Given the description of an element on the screen output the (x, y) to click on. 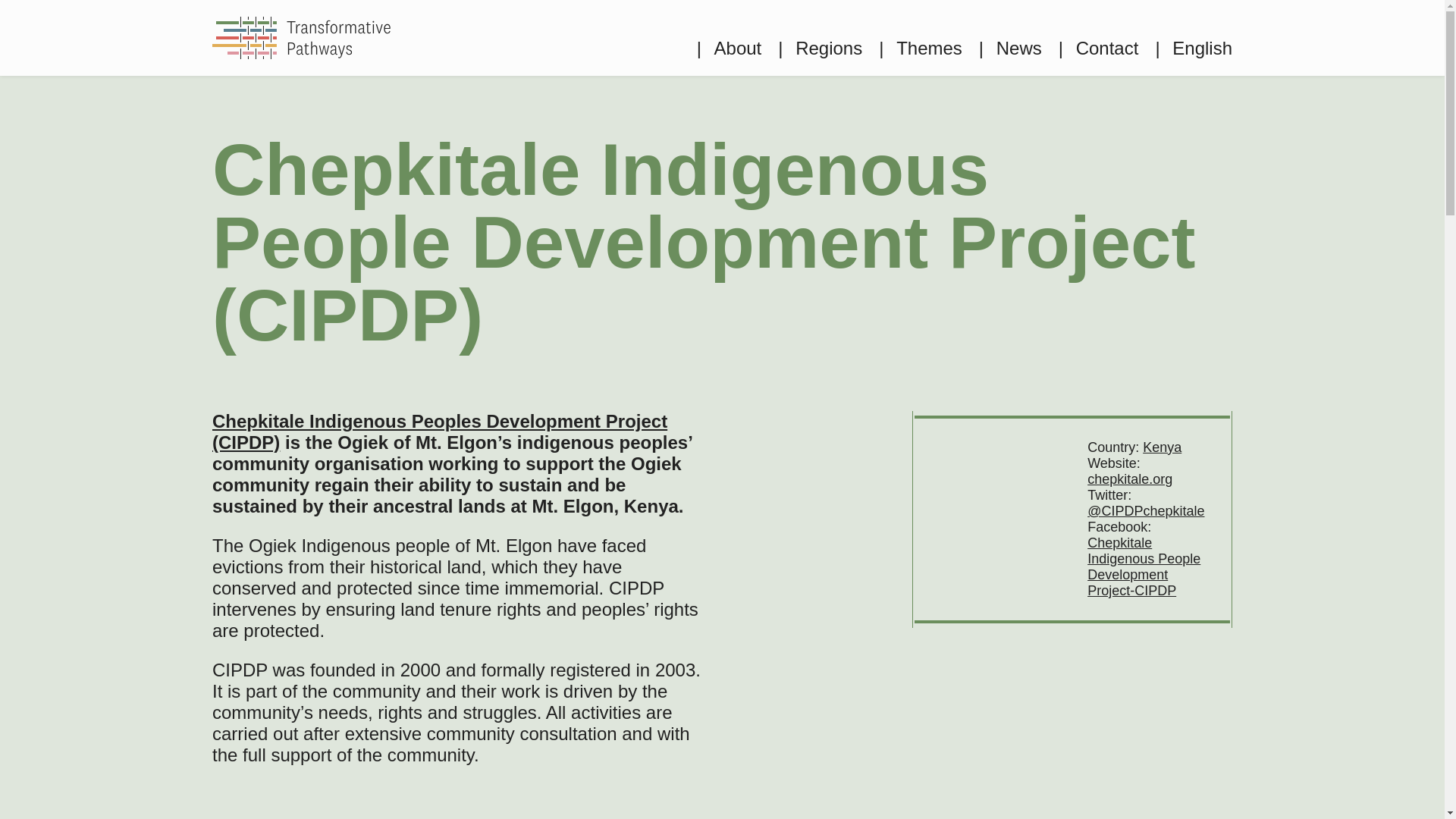
Themes (920, 47)
English (1192, 47)
Kenya (1161, 447)
English (1192, 47)
About (729, 47)
Contact (1098, 47)
Regions (819, 47)
Chepkitale Indigenous People Development Project-CIPDP (1143, 566)
chepkitale.org (1129, 478)
News (1010, 47)
